Given the description of an element on the screen output the (x, y) to click on. 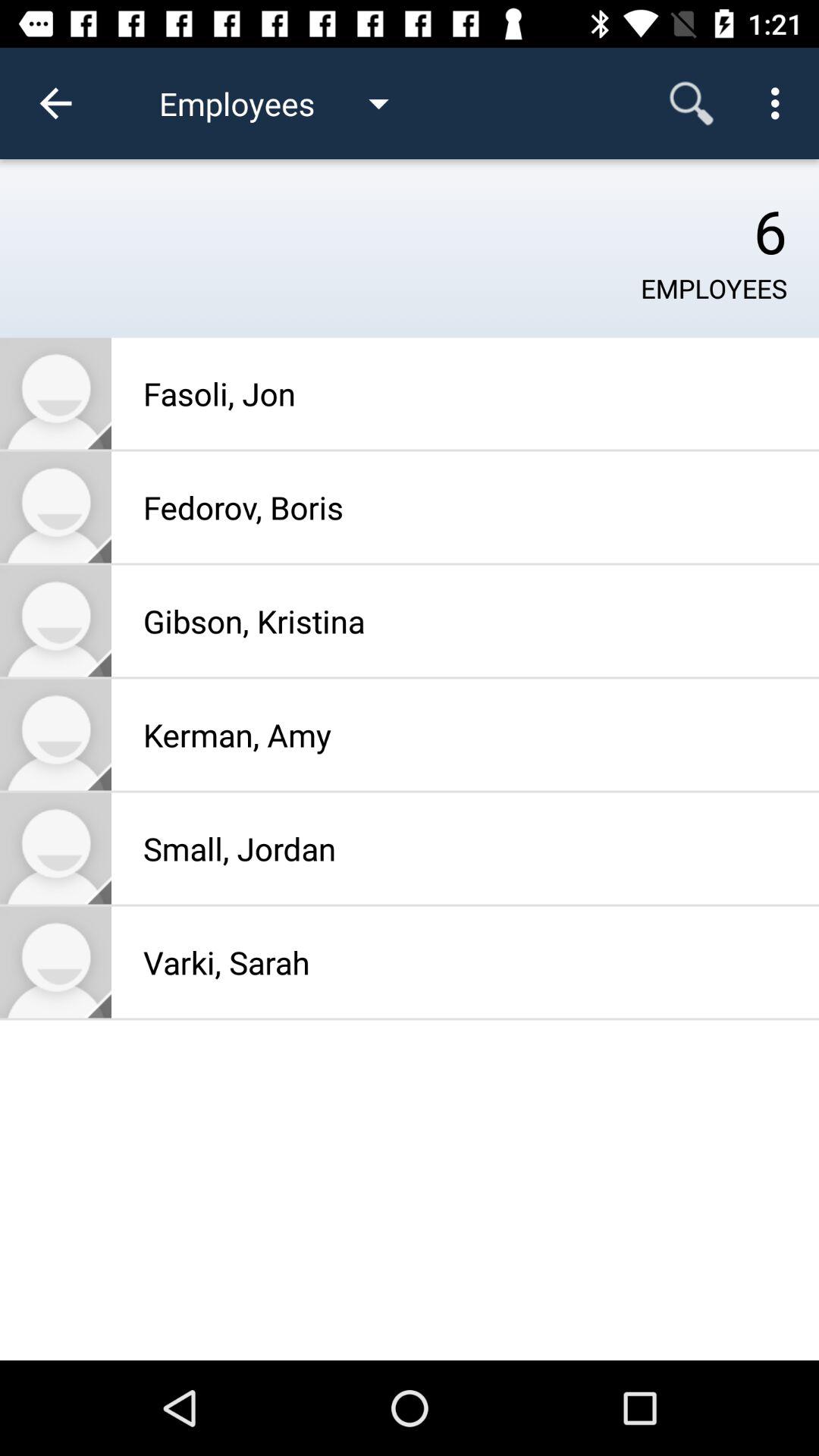
select profile (55, 734)
